Given the description of an element on the screen output the (x, y) to click on. 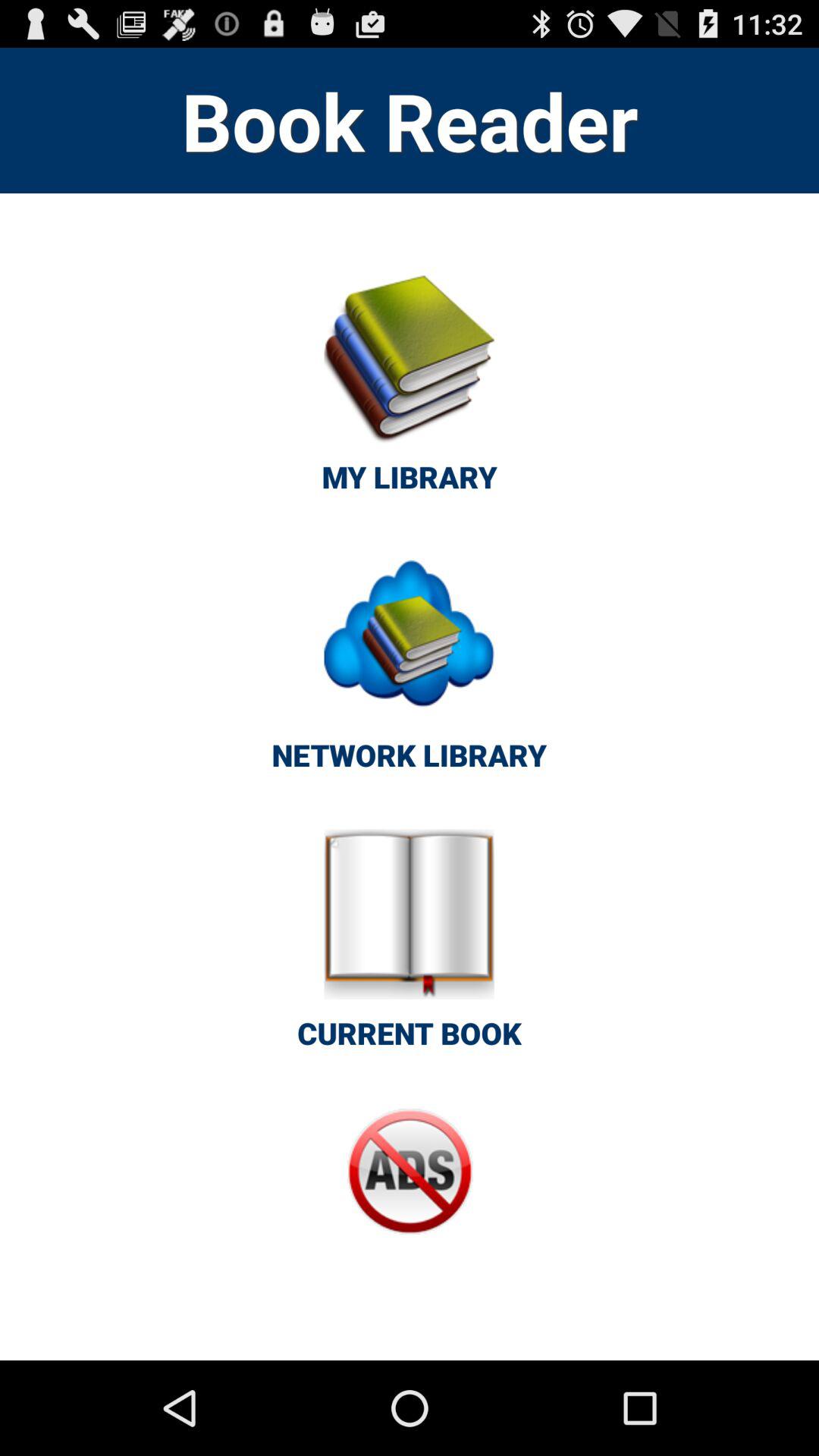
tap button above network library (409, 392)
